Given the description of an element on the screen output the (x, y) to click on. 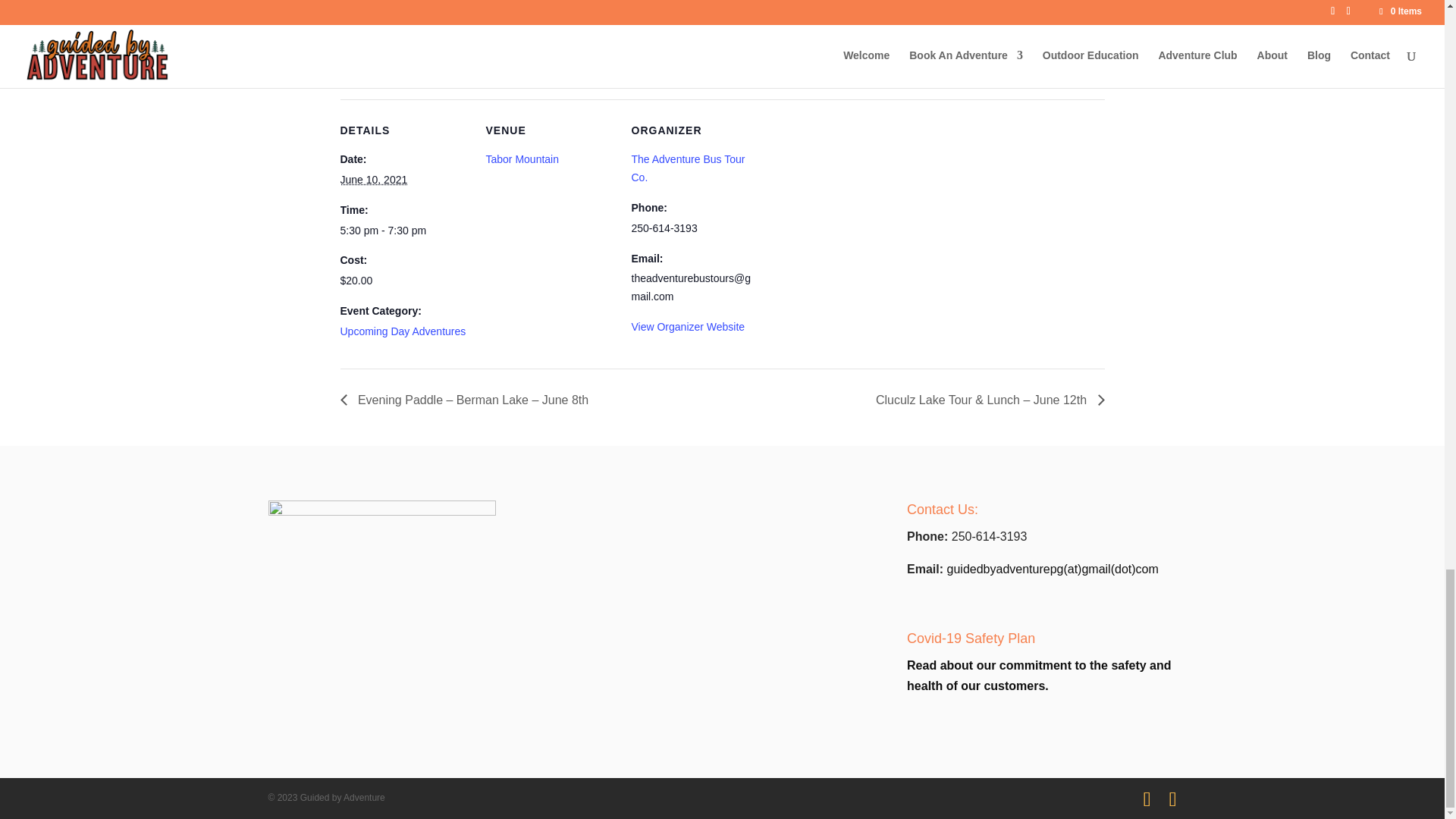
2021-06-10 (403, 230)
The Adventure Bus Tour Co. (687, 168)
The Adventure Bus Tour Co. (687, 168)
Upcoming Day Adventures (402, 331)
Tabor Mountain (521, 159)
View Organizer Website (687, 326)
2021-06-10 (373, 179)
